Given the description of an element on the screen output the (x, y) to click on. 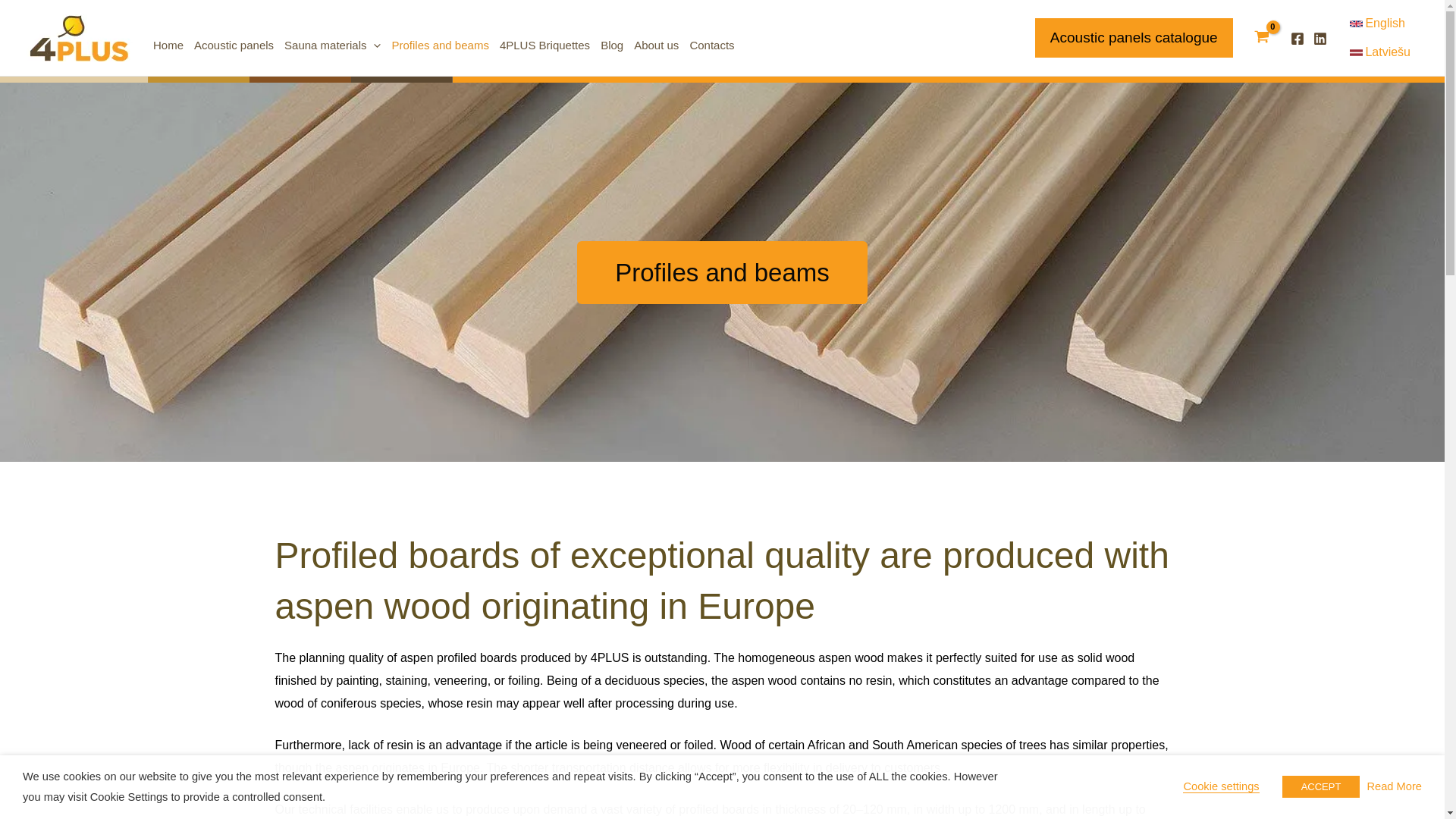
Sauna materials (332, 38)
4PLUS Briquettes (545, 38)
Profiles and beams (439, 38)
Acoustic panels catalogue (1134, 37)
Acoustic panels (234, 38)
Profiles and beams (721, 271)
English (1379, 23)
